Given the description of an element on the screen output the (x, y) to click on. 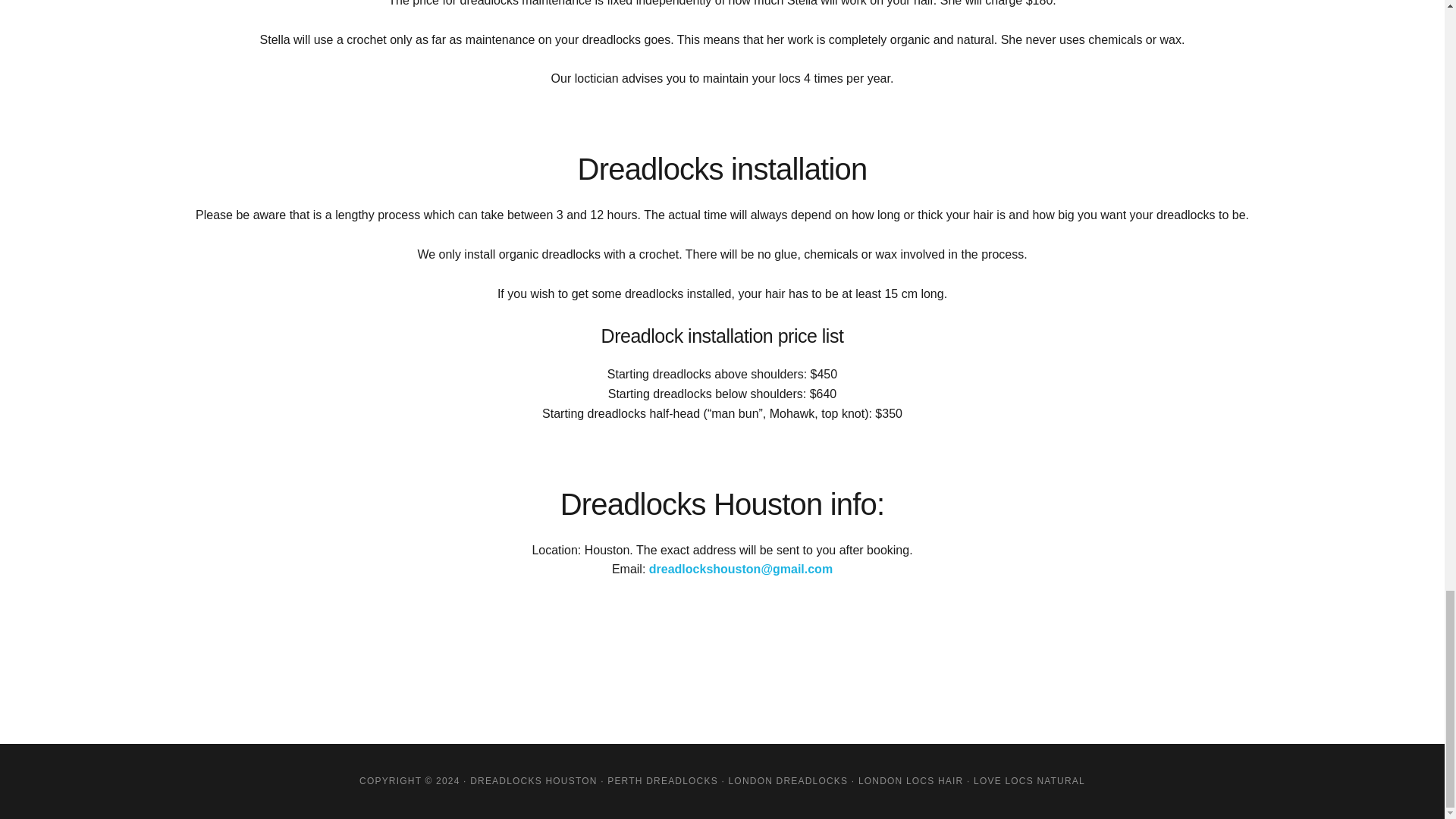
PERTH DREADLOCKS (662, 780)
DREADLOCKS HOUSTON (533, 780)
LONDON DREADLOCKS (787, 780)
LOVE LOCS NATURAL (1029, 780)
LONDON LOCS HAIR (911, 780)
